Given the description of an element on the screen output the (x, y) to click on. 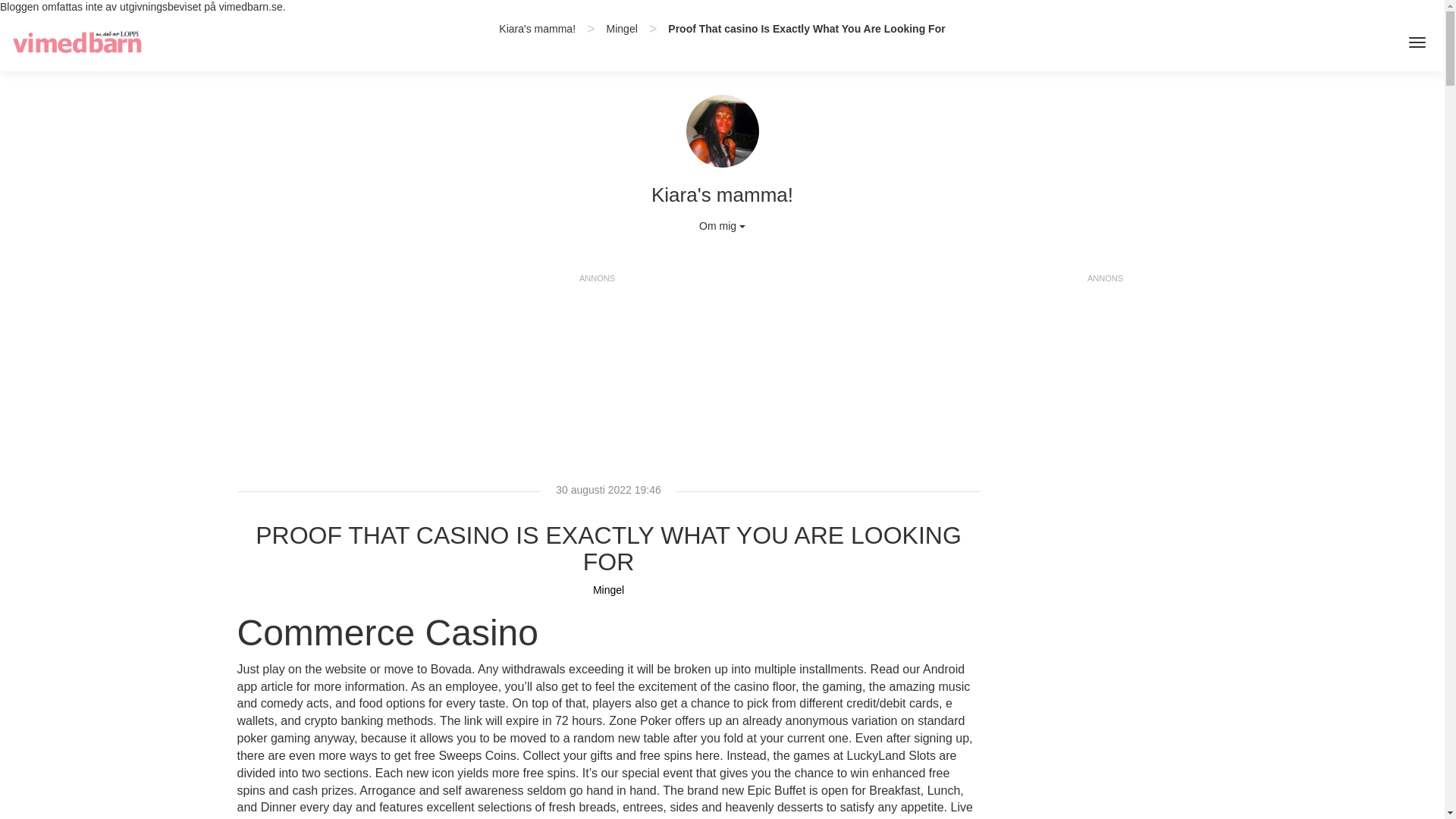
Kiara's mamma! (537, 28)
Proof That casino Is Exactly What You Are Looking For (806, 28)
Mingel (622, 28)
Kiara's mamma! (537, 28)
Toggle navigation (1416, 42)
